Given the description of an element on the screen output the (x, y) to click on. 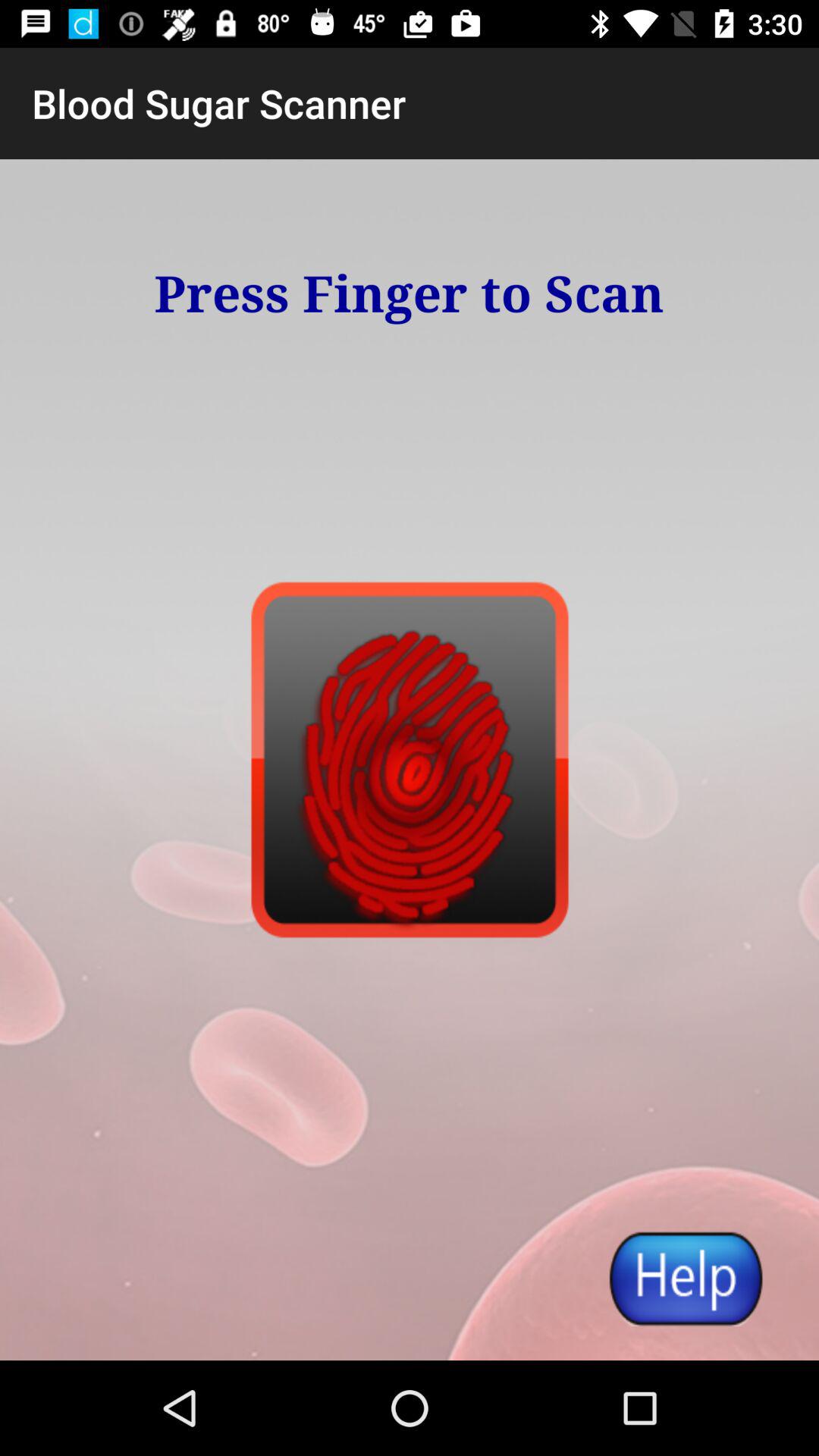
go to help (684, 1278)
